Given the description of an element on the screen output the (x, y) to click on. 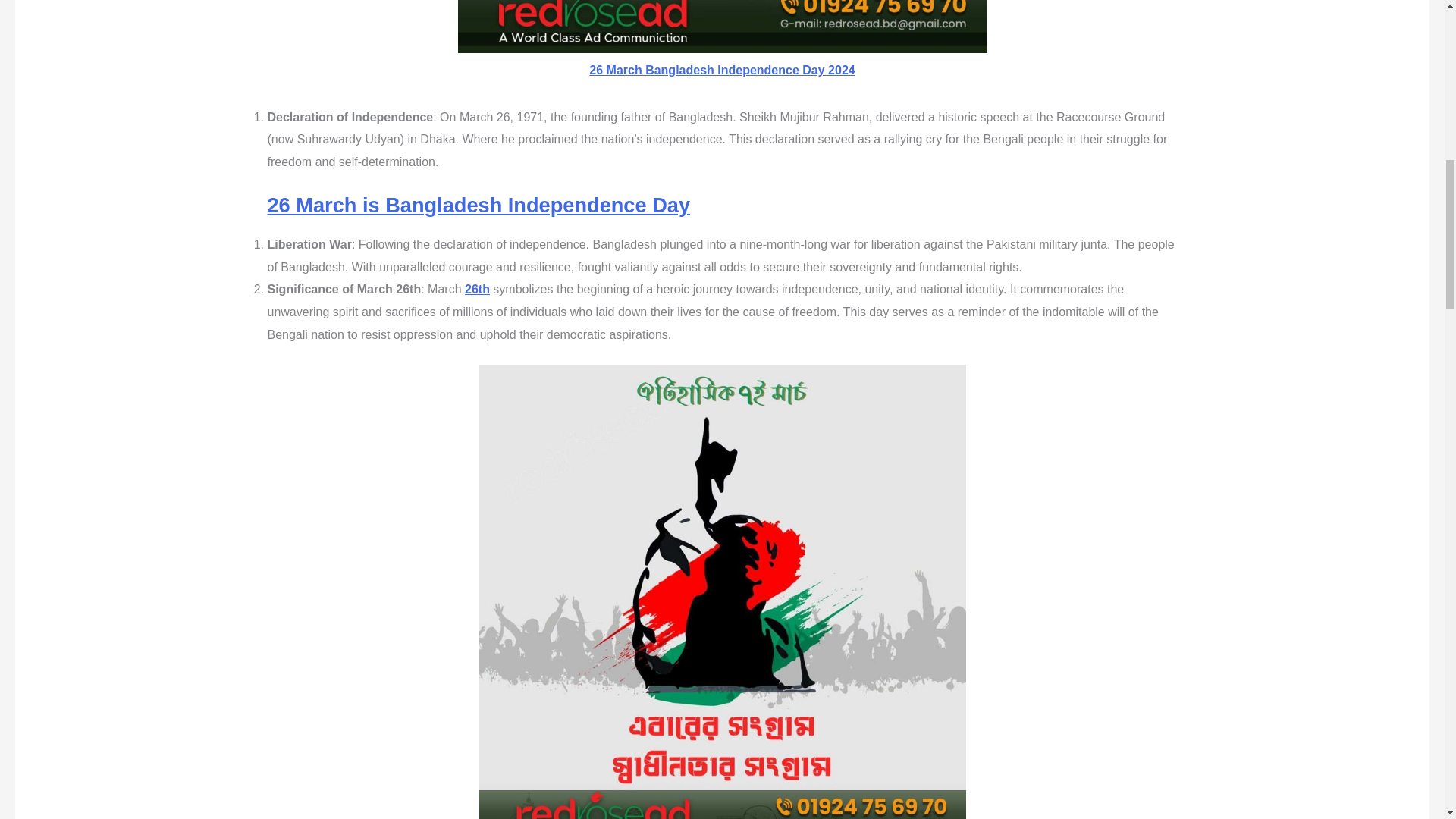
26 March is Bangladesh Independence Day (478, 205)
26 March Bangladesh Independence Day 2024 (721, 69)
26th (476, 288)
